Given the description of an element on the screen output the (x, y) to click on. 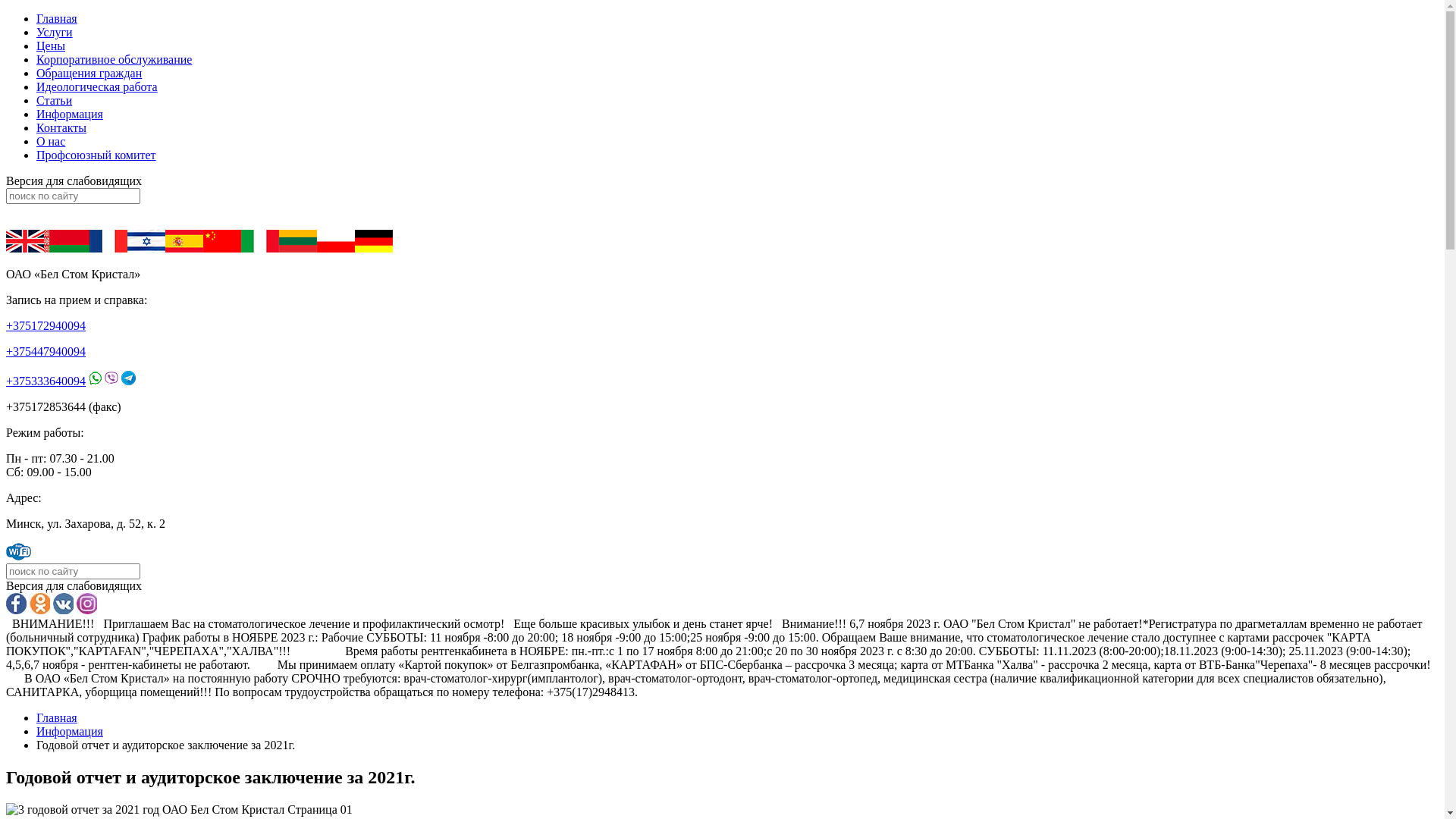
+375333640094 Element type: text (45, 380)
+375447940094 Element type: text (45, 351)
+375172940094 Element type: text (45, 325)
